Given the description of an element on the screen output the (x, y) to click on. 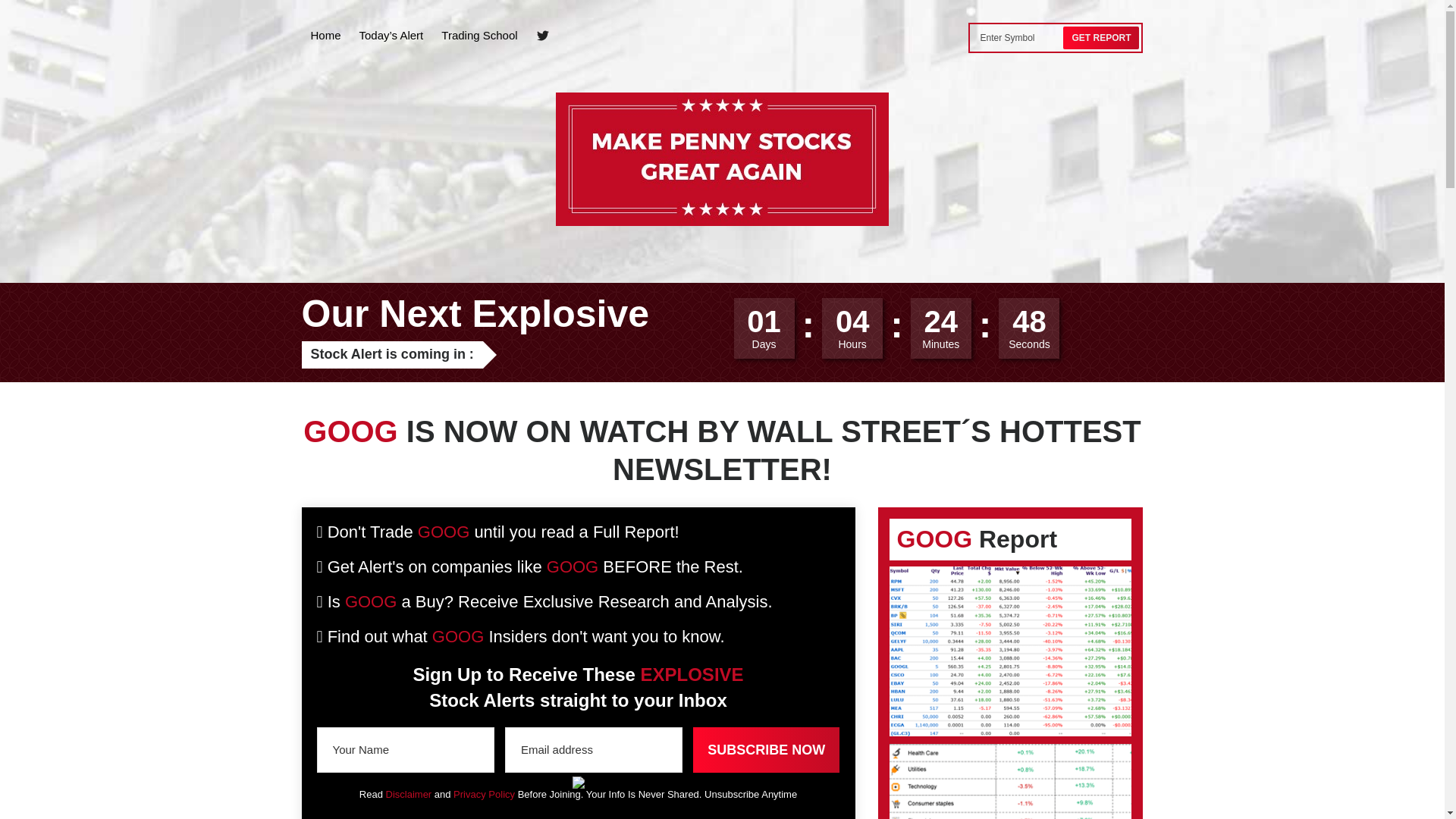
Trading School (478, 35)
SUBSCRIBE NOW (766, 750)
Privacy Policy (483, 794)
Home (325, 35)
Get Report (1100, 37)
Disclaimer (408, 794)
SUBSCRIBE NOW (766, 750)
Enter Symbol (1017, 37)
Get Report (1100, 37)
Enter Symbol (1017, 37)
